Given the description of an element on the screen output the (x, y) to click on. 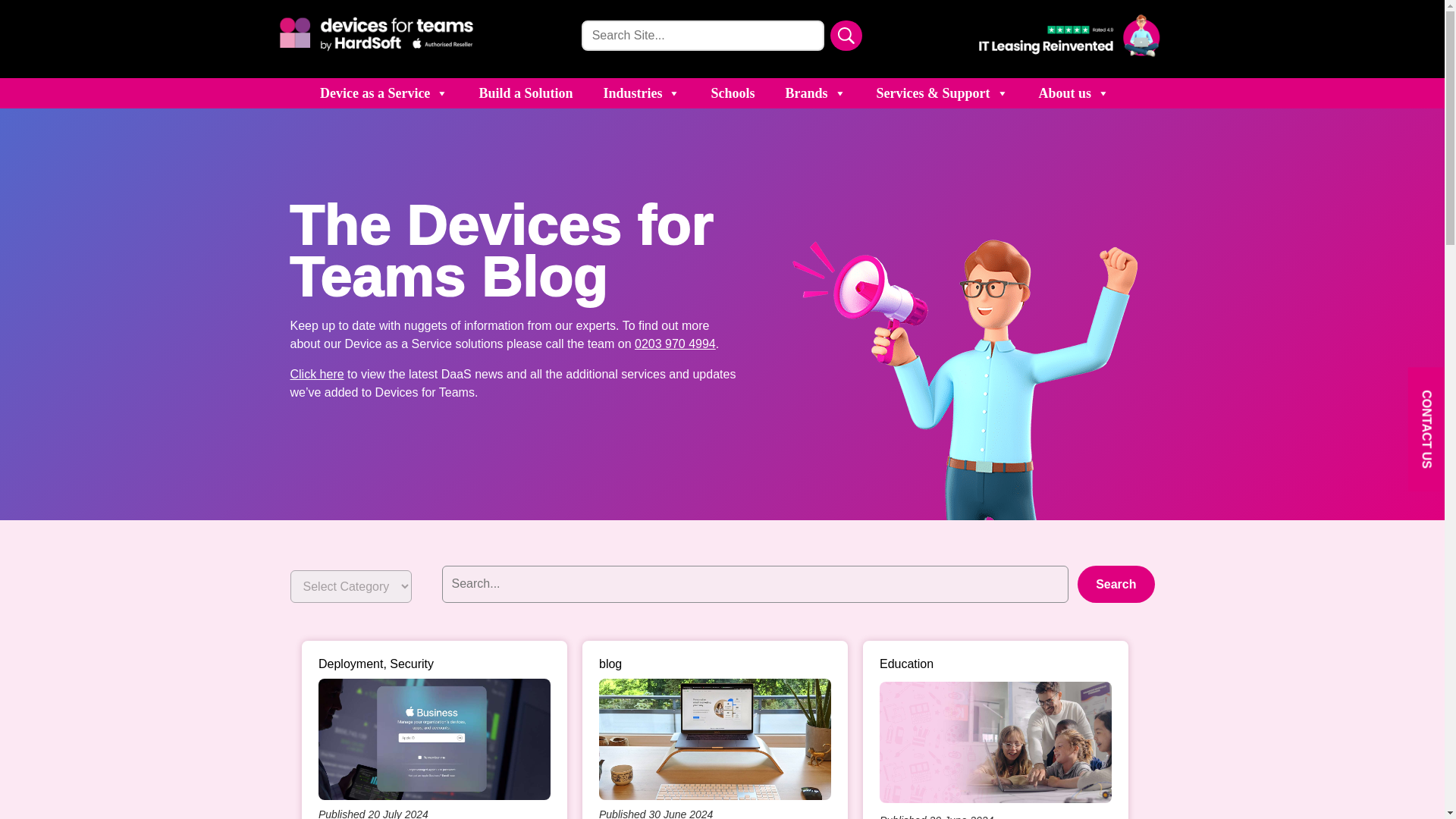
Search Site... (702, 35)
